Given the description of an element on the screen output the (x, y) to click on. 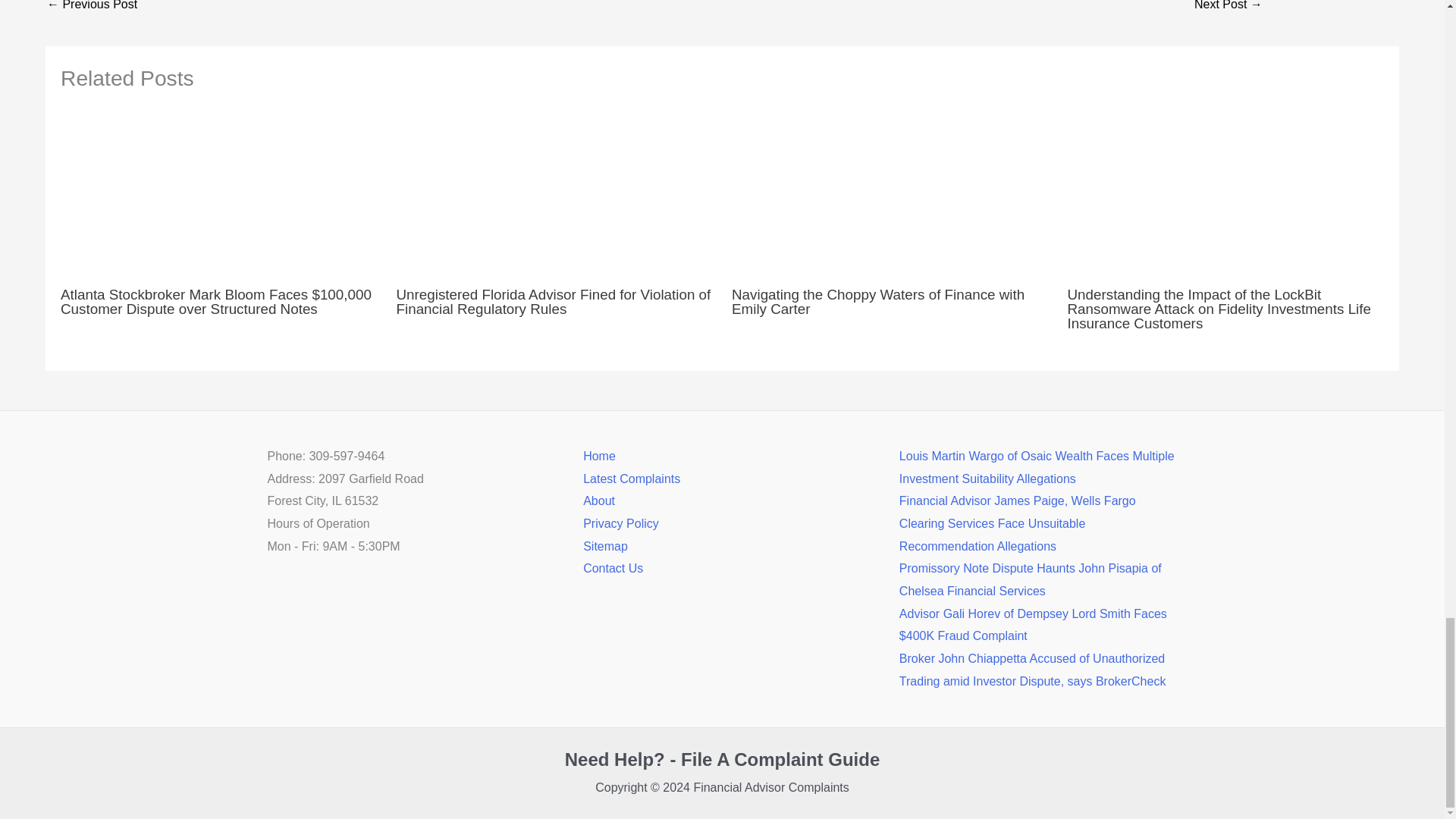
Navigating the Choppy Waters of Finance with Emily Carter (878, 301)
Navigating the Choppy Waters of Finance with Emily Carter 5 (890, 193)
